Given the description of an element on the screen output the (x, y) to click on. 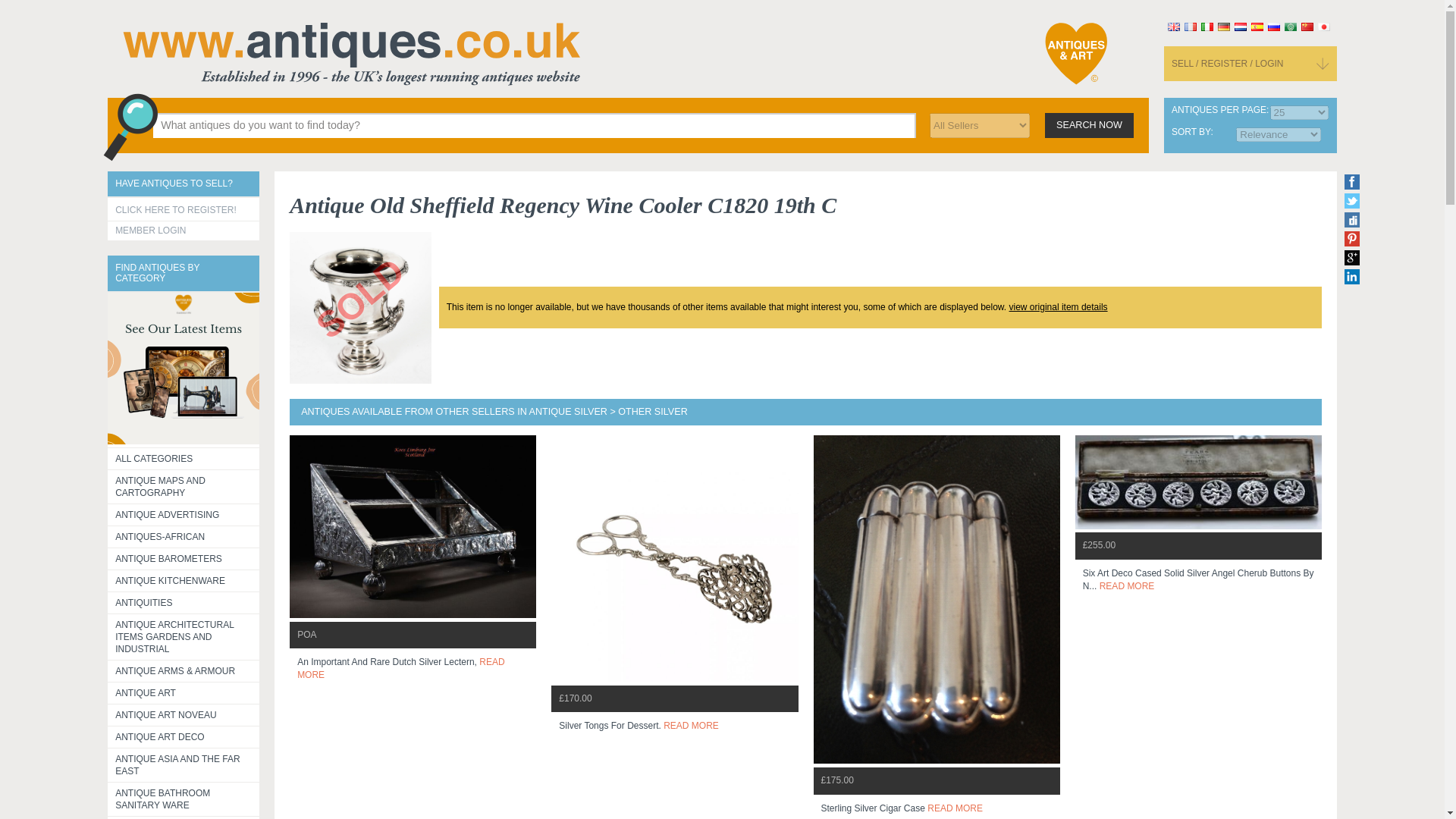
CLICK HERE TO REGISTER! (183, 209)
ALL CATEGORIES (183, 457)
ANTIQUE BAROMETERS (183, 557)
ANTIQUE MAPS AND CARTOGRAPHY (183, 486)
ANTIQUES-AFRICAN (183, 536)
ANTIQUE BATHROOM SANITARY WARE (183, 798)
ANTIQUE ADVERTISING (183, 513)
ANTIQUITIES (183, 601)
ANTIQUE ART (183, 692)
ANTIQUE BOOKS (183, 817)
